Given the description of an element on the screen output the (x, y) to click on. 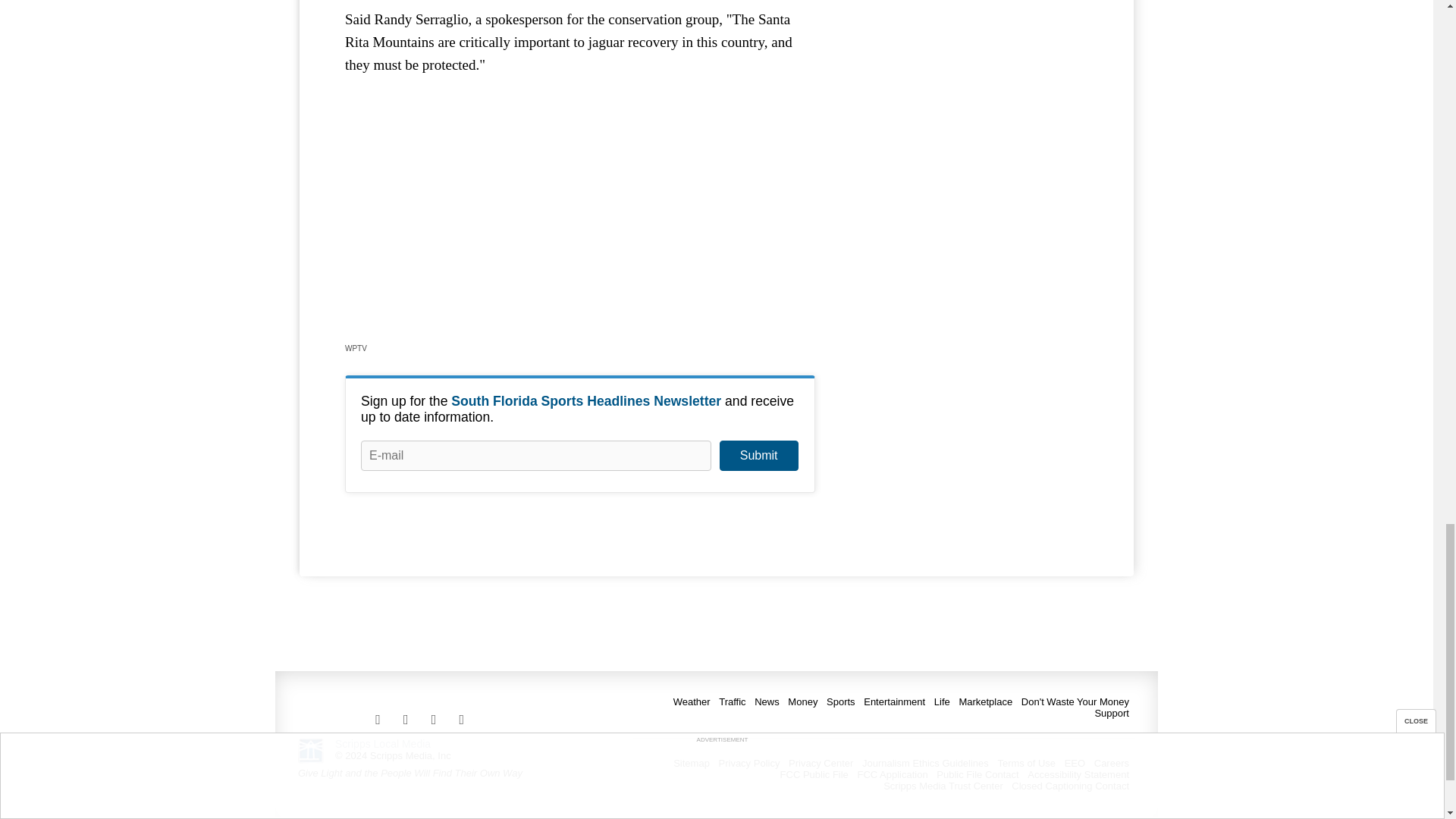
Submit (758, 455)
